Given the description of an element on the screen output the (x, y) to click on. 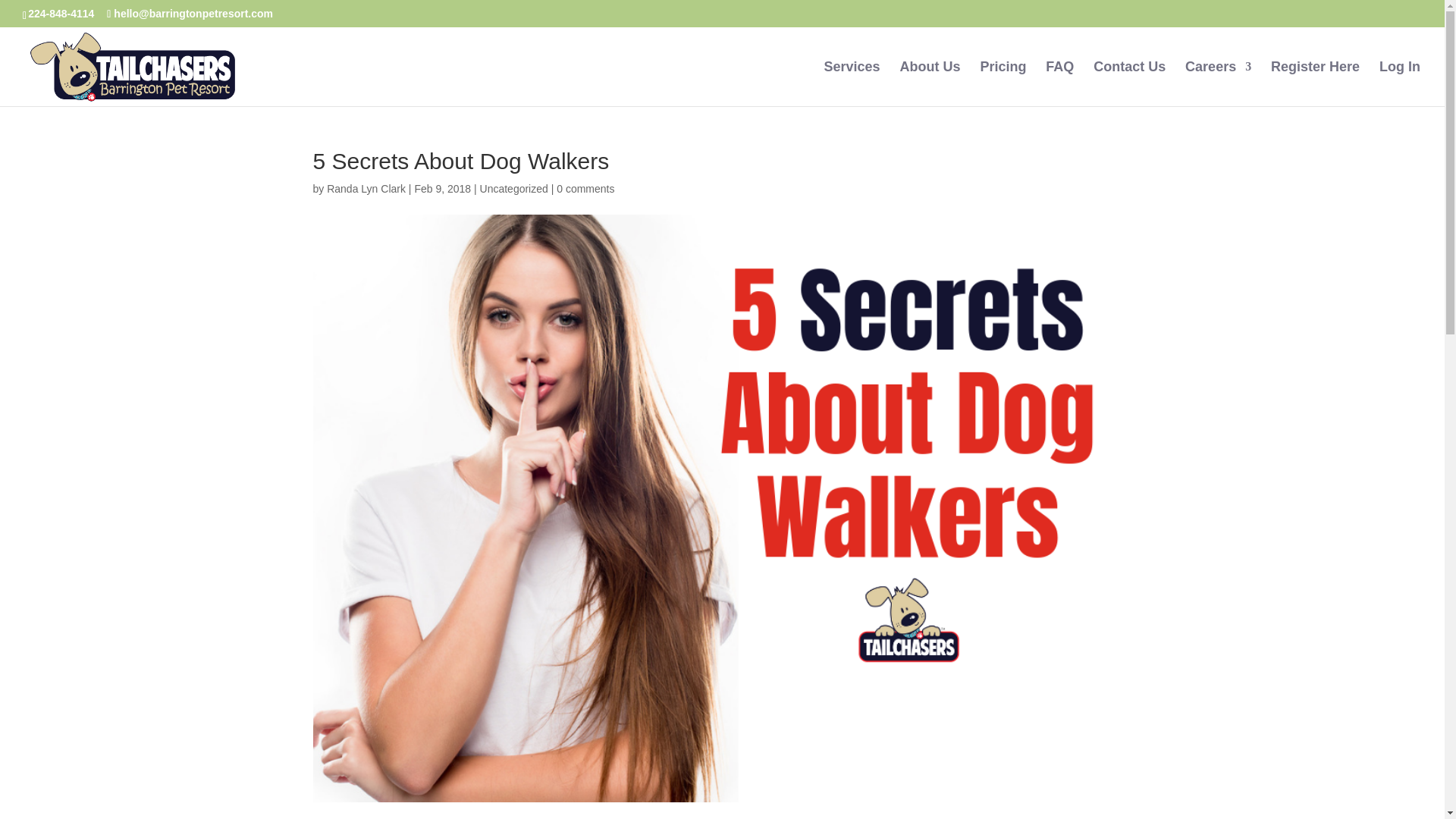
Services (852, 83)
Careers (1217, 83)
Uncategorized (514, 188)
Register Here (1315, 83)
Pricing (1002, 83)
0 comments (585, 188)
Randa Lyn Clark (366, 188)
About Us (929, 83)
Contact Us (1129, 83)
Posts by Randa Lyn Clark (366, 188)
